Given the description of an element on the screen output the (x, y) to click on. 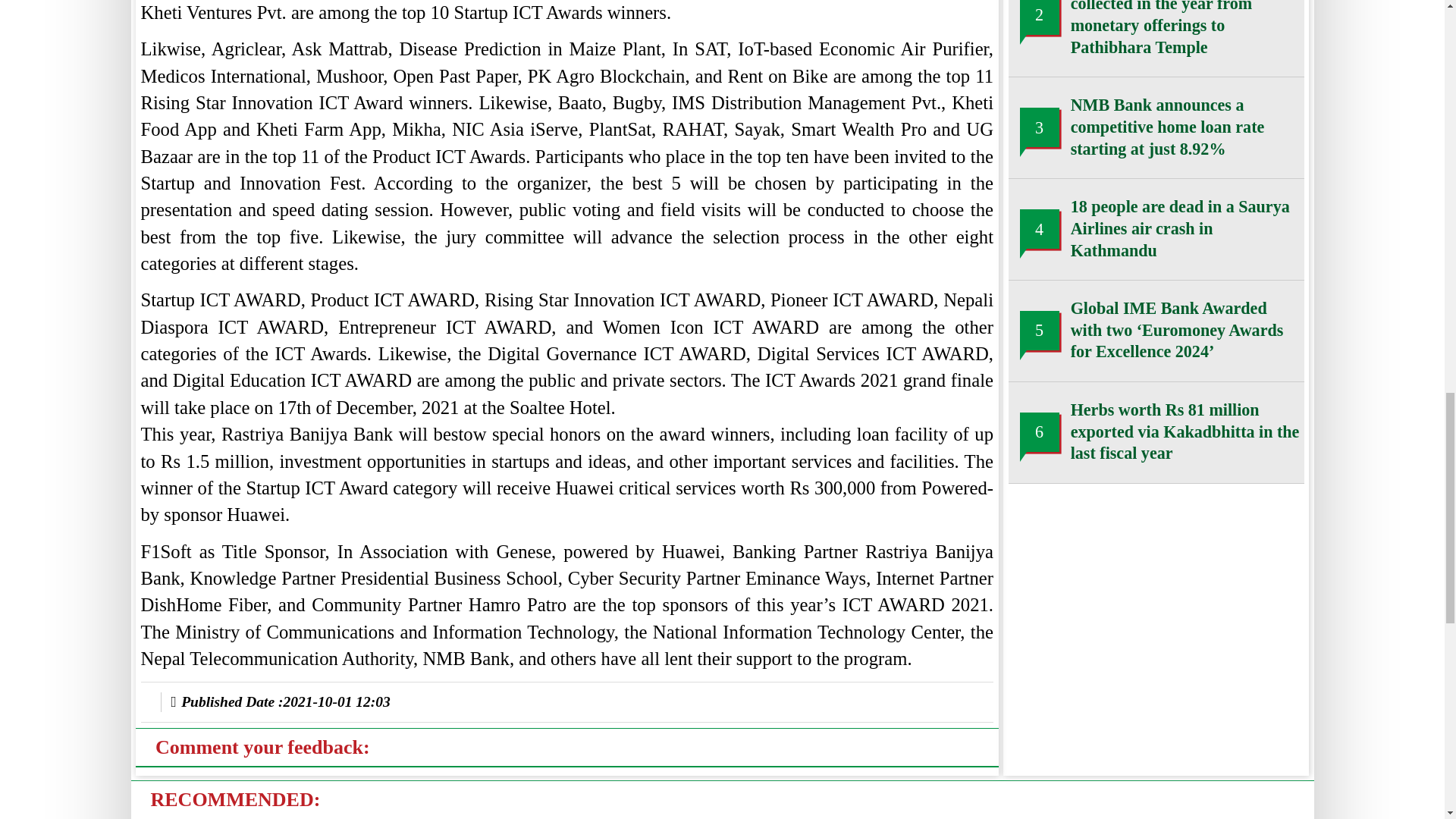
tiktok (290, 745)
Comment your feedback: (201, 261)
twitter (214, 745)
youtube (252, 745)
facebook (176, 745)
truth-social (328, 745)
